Given the description of an element on the screen output the (x, y) to click on. 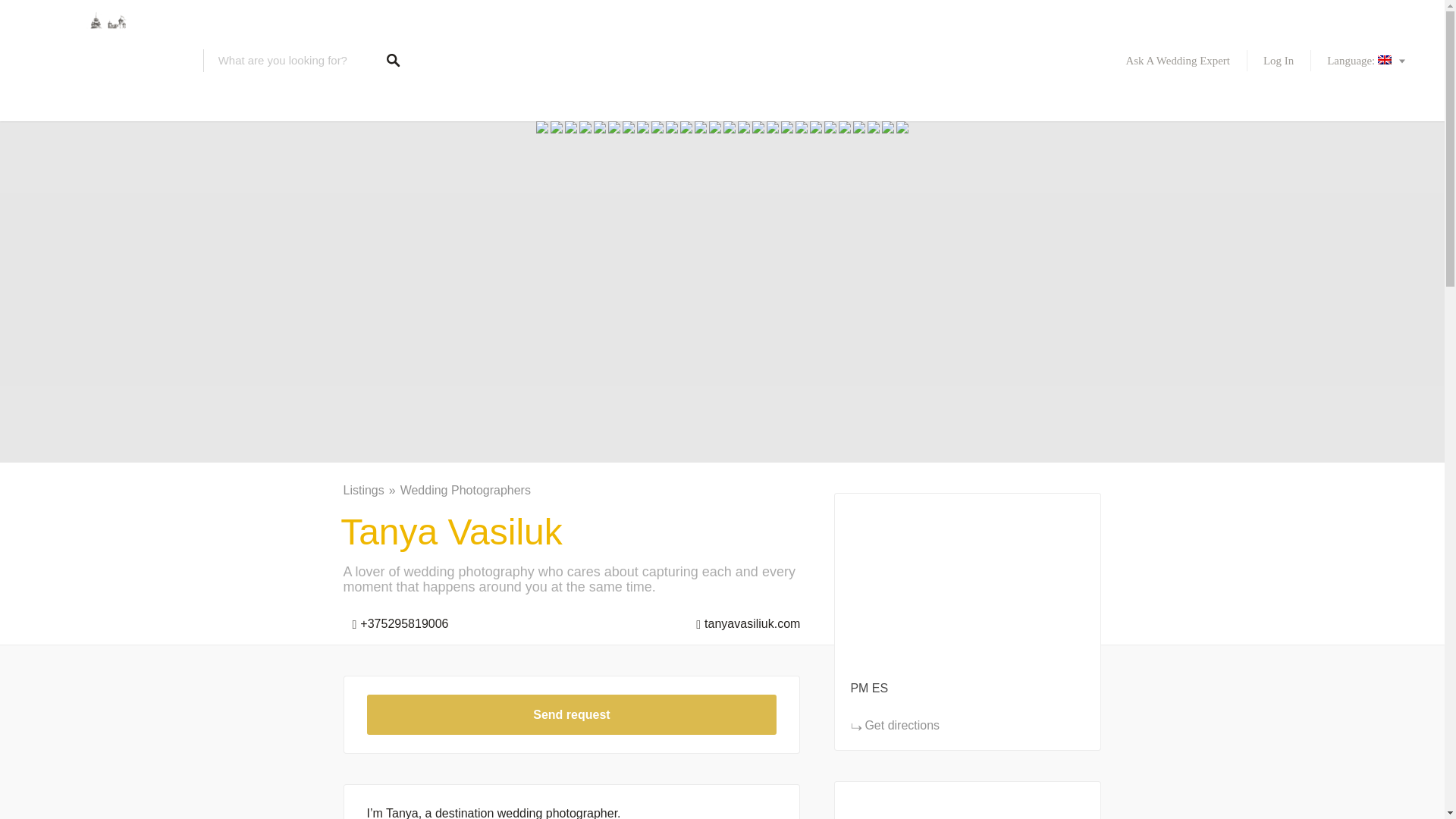
Get directions (894, 725)
tanyavasiliuk.com (743, 620)
Listings (370, 489)
Wedding Photographers (465, 489)
Ask A Wedding Expert (1177, 60)
English (1366, 60)
Send request (571, 714)
Log In (1278, 60)
Language:  (1366, 60)
